Given the description of an element on the screen output the (x, y) to click on. 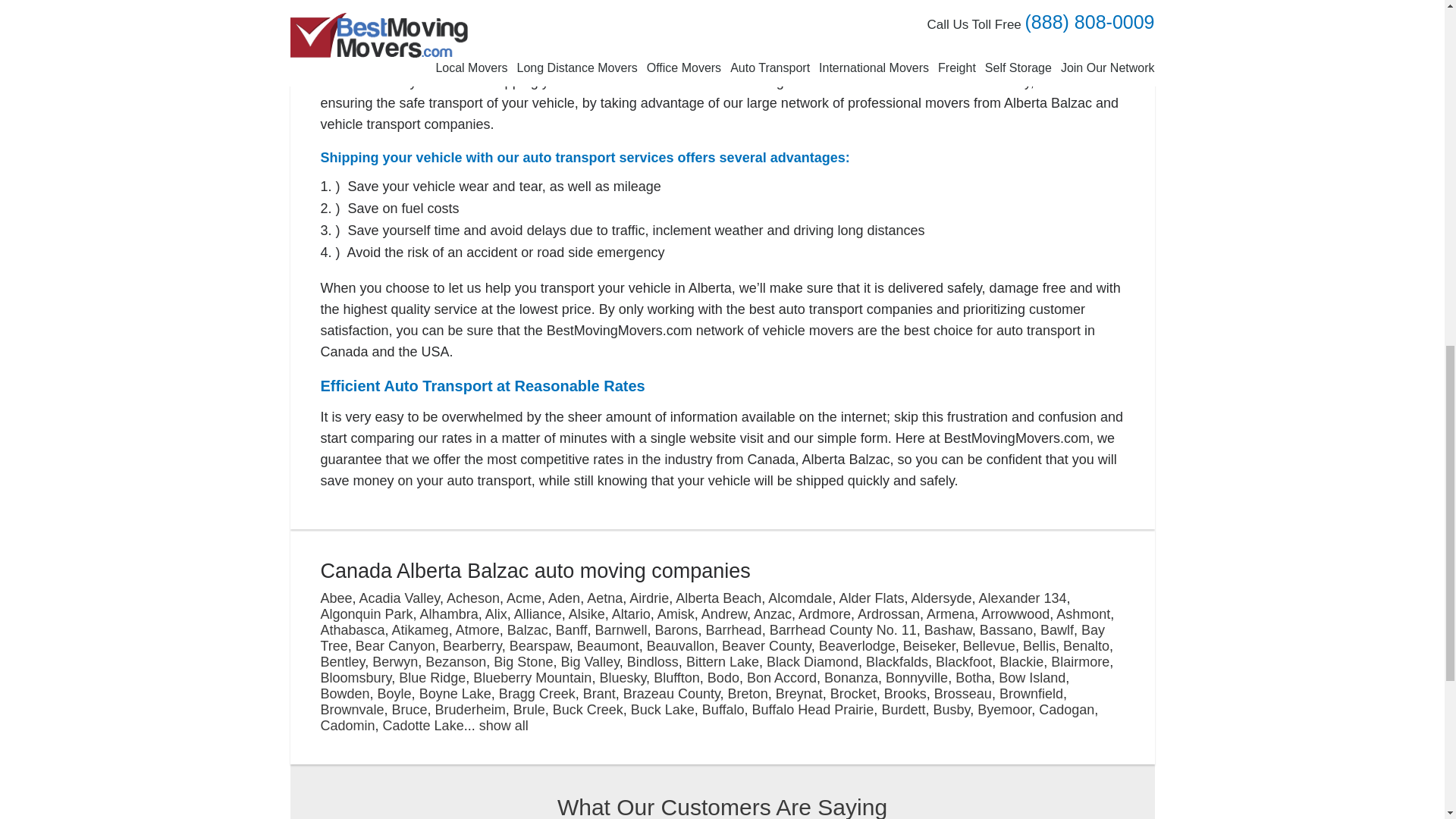
Acme (523, 598)
Amisk (676, 613)
Ardmore (823, 613)
Anzac (773, 613)
Alexander 134 (1022, 598)
Andrew (723, 613)
Canadian Movers in Aden, AB (563, 598)
Alix (495, 613)
Alberta Beach (718, 598)
Altario (630, 613)
Alder Flats (871, 598)
Abee (336, 598)
Canadian Movers in Acme, AB (523, 598)
Aden (563, 598)
Airdrie (648, 598)
